Given the description of an element on the screen output the (x, y) to click on. 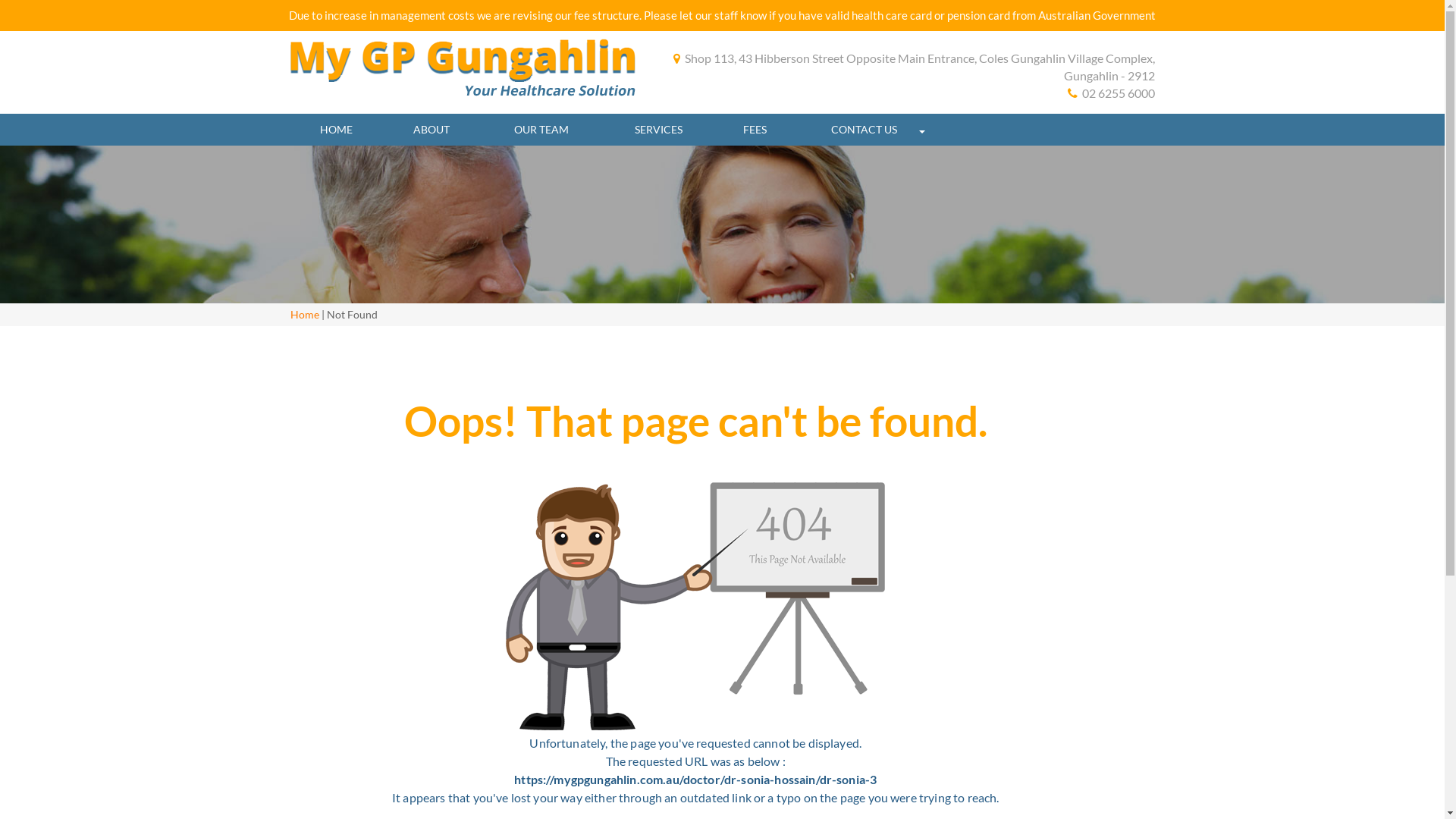
OUR TEAM Element type: text (541, 129)
CONTACT US Element type: text (863, 129)
Home Element type: text (303, 313)
error Element type: hover (694, 606)
ABOUT Element type: text (431, 129)
HOME Element type: text (335, 129)
FEES Element type: text (755, 129)
SERVICES Element type: text (658, 129)
02 6255 6000 Element type: text (1110, 93)
